Given the description of an element on the screen output the (x, y) to click on. 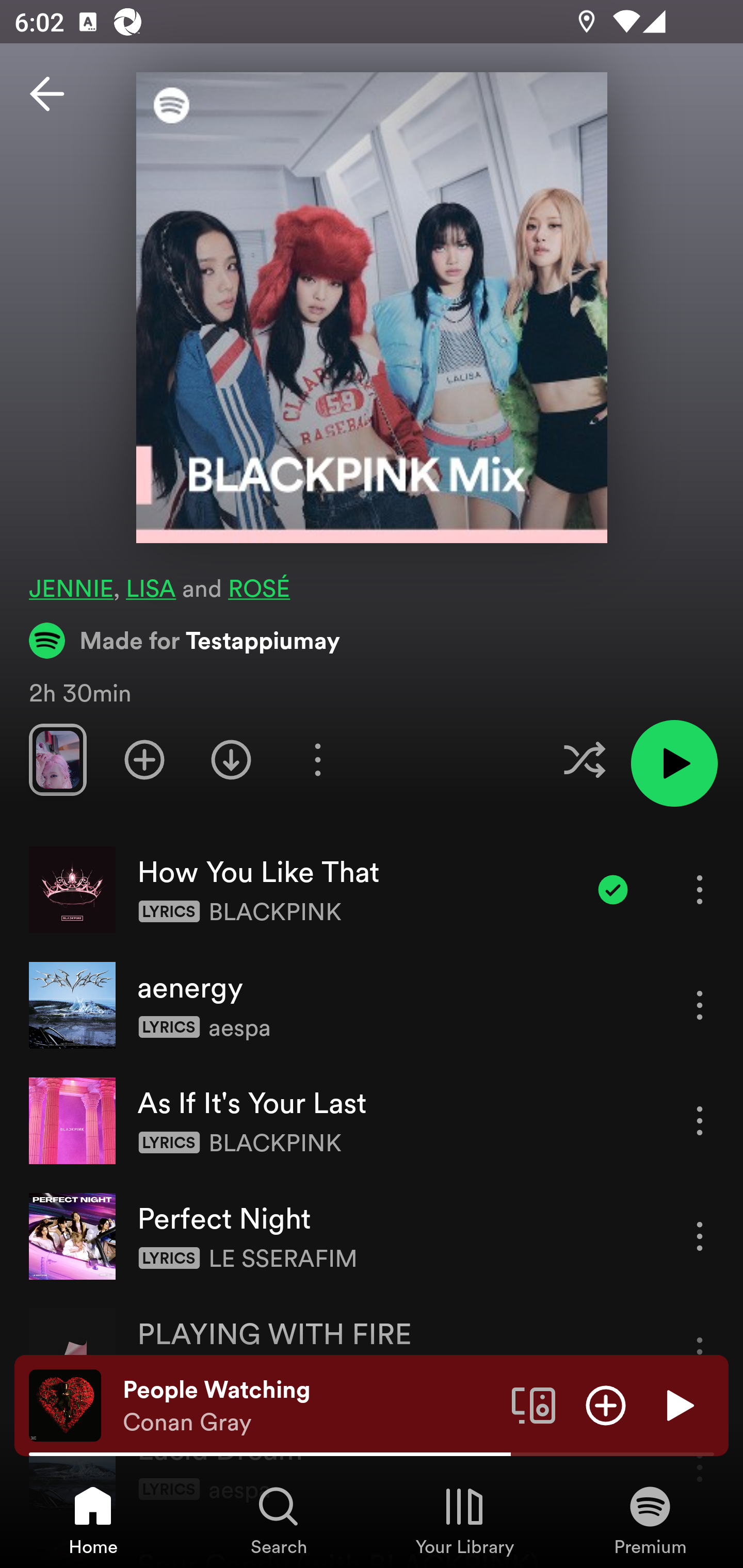
Back (46, 93)
Made for Testappiumay (184, 640)
Add playlist to Your Library (144, 759)
Download (230, 759)
More options for playlist BLACKPINK Mix (317, 759)
Enable shuffle for this playlist (583, 759)
Play playlist (674, 763)
Item added (612, 889)
More options for song How You Like That (699, 889)
aenergy More options for song aenergy Lyrics aespa (371, 1005)
More options for song aenergy (699, 1004)
More options for song As If It's Your Last (699, 1120)
More options for song Perfect Night (699, 1236)
People Watching Conan Gray (309, 1405)
The cover art of the currently playing track (64, 1404)
Connect to a device. Opens the devices menu (533, 1404)
Add item (605, 1404)
Play (677, 1404)
Home, Tab 1 of 4 Home Home (92, 1519)
Search, Tab 2 of 4 Search Search (278, 1519)
Your Library, Tab 3 of 4 Your Library Your Library (464, 1519)
Premium, Tab 4 of 4 Premium Premium (650, 1519)
